Given the description of an element on the screen output the (x, y) to click on. 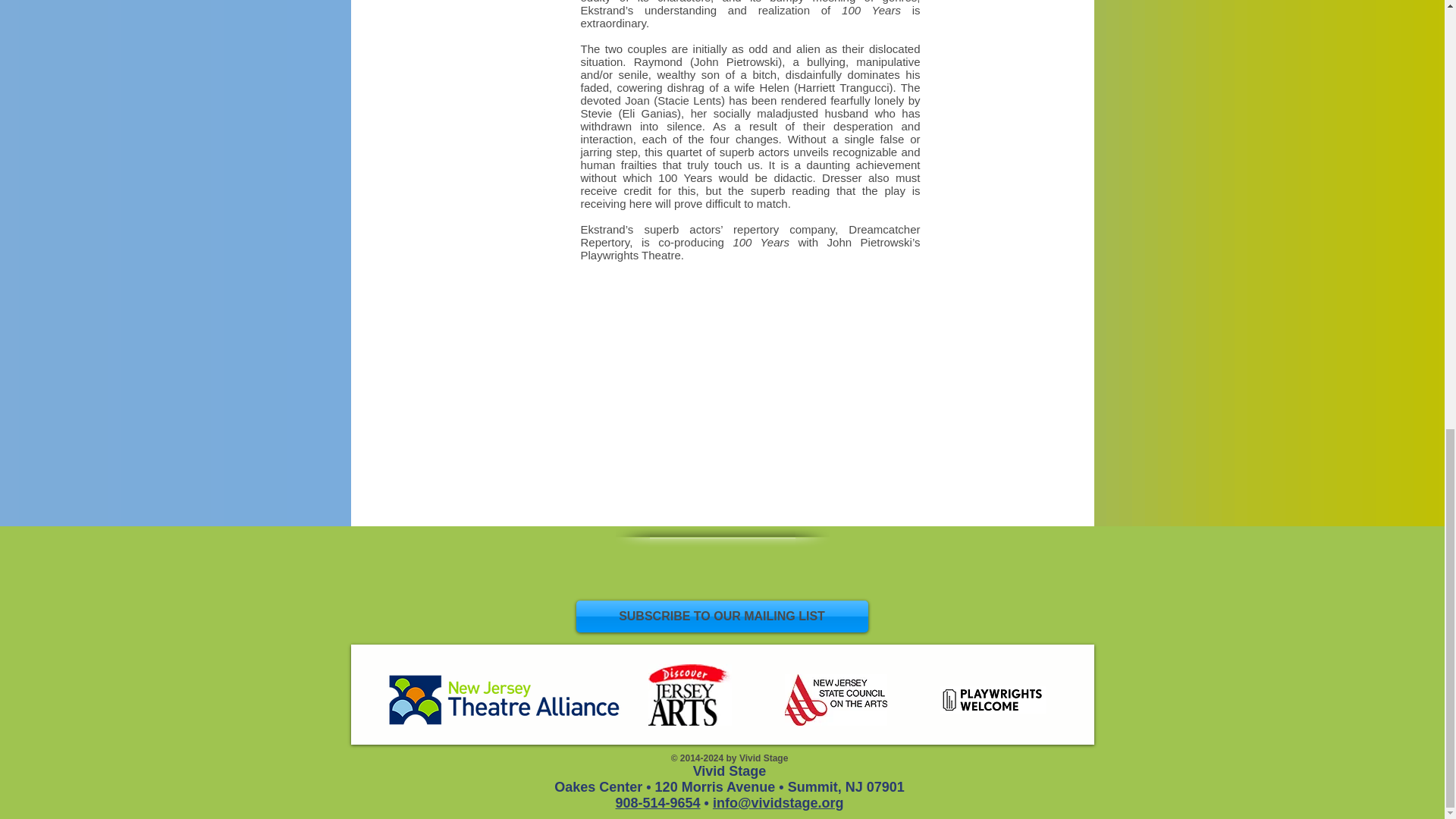
NJ State Council of the Arts Logo (835, 699)
New Jersey Theatre Alliance Logo (504, 699)
Discover Jersey Arts Logo (688, 694)
